Given the description of an element on the screen output the (x, y) to click on. 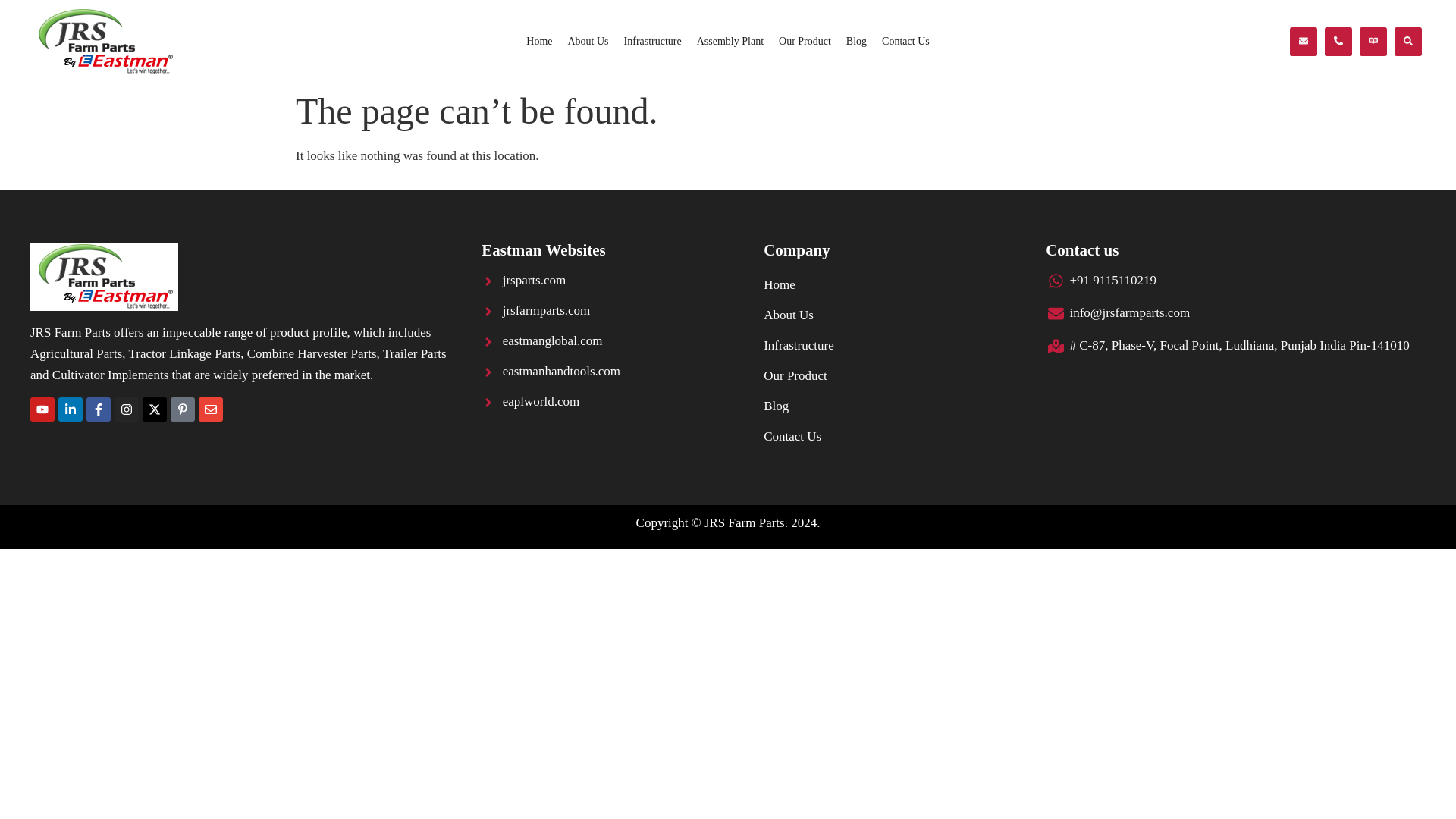
Home (538, 41)
About Us (587, 41)
Our Product (804, 41)
Assembly Plant (729, 41)
Infrastructure (651, 41)
